Given the description of an element on the screen output the (x, y) to click on. 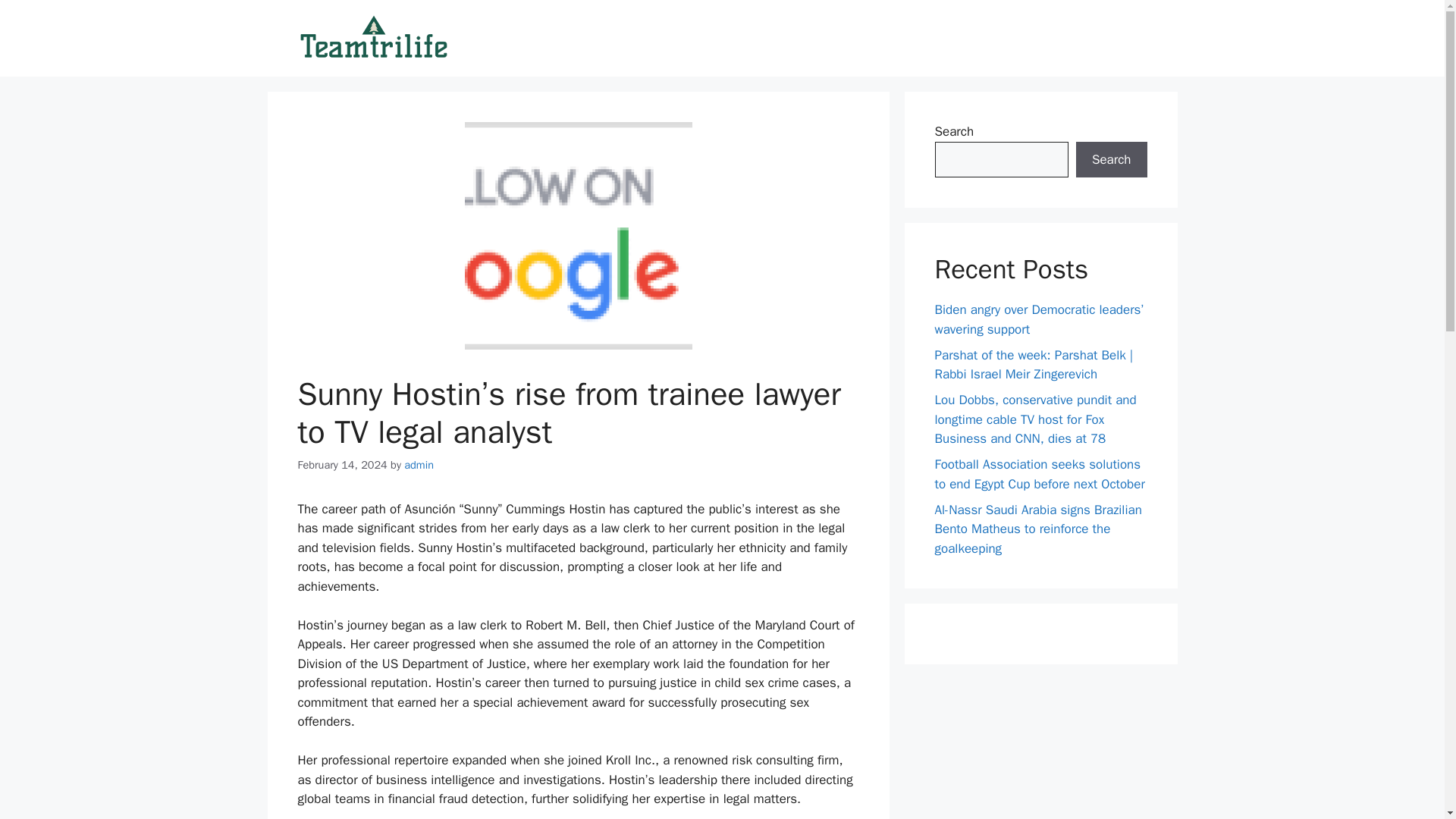
Search (1111, 158)
admin (418, 464)
View all posts by admin (418, 464)
